Given the description of an element on the screen output the (x, y) to click on. 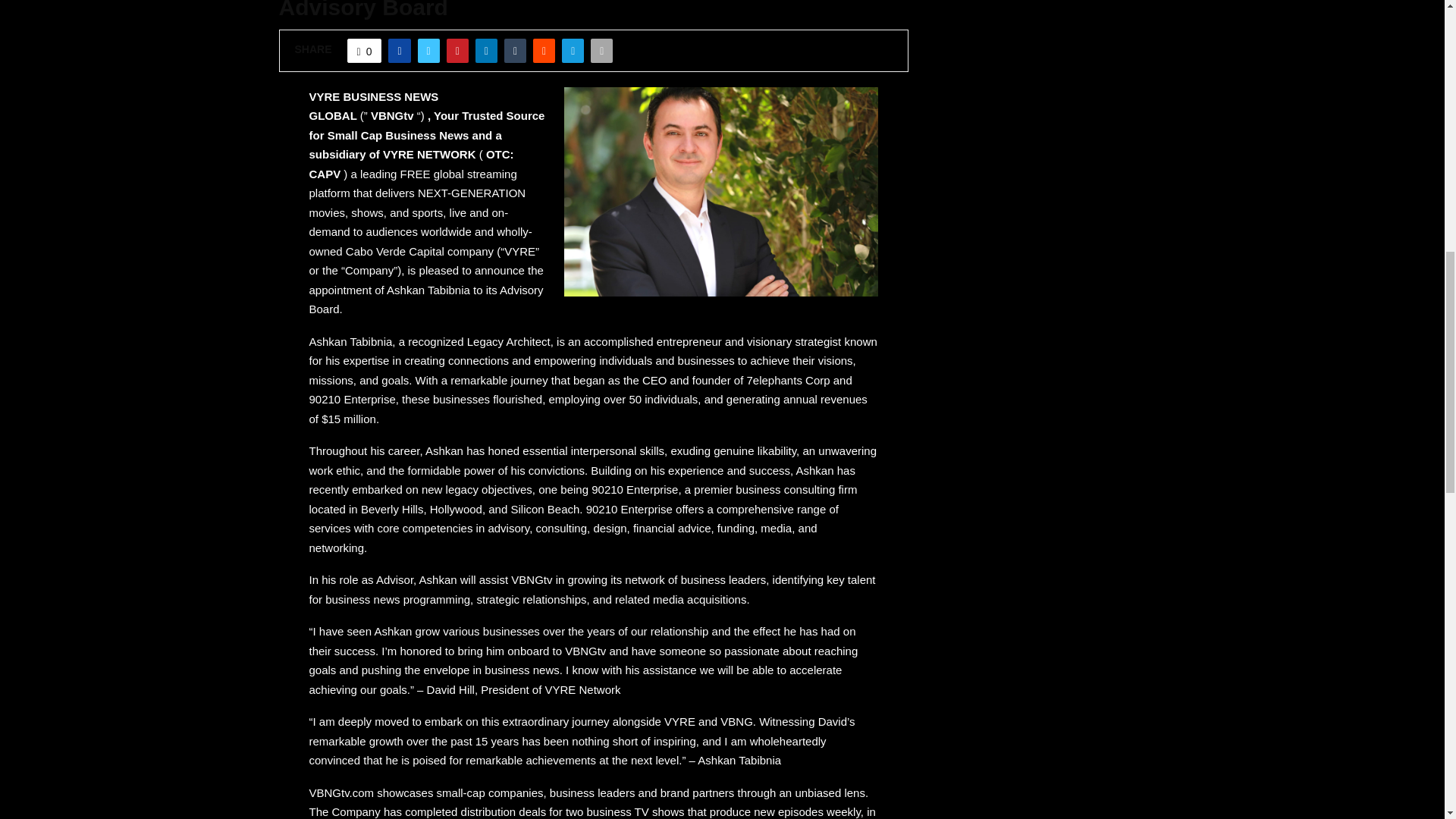
Like (364, 49)
0 (364, 49)
